Given the description of an element on the screen output the (x, y) to click on. 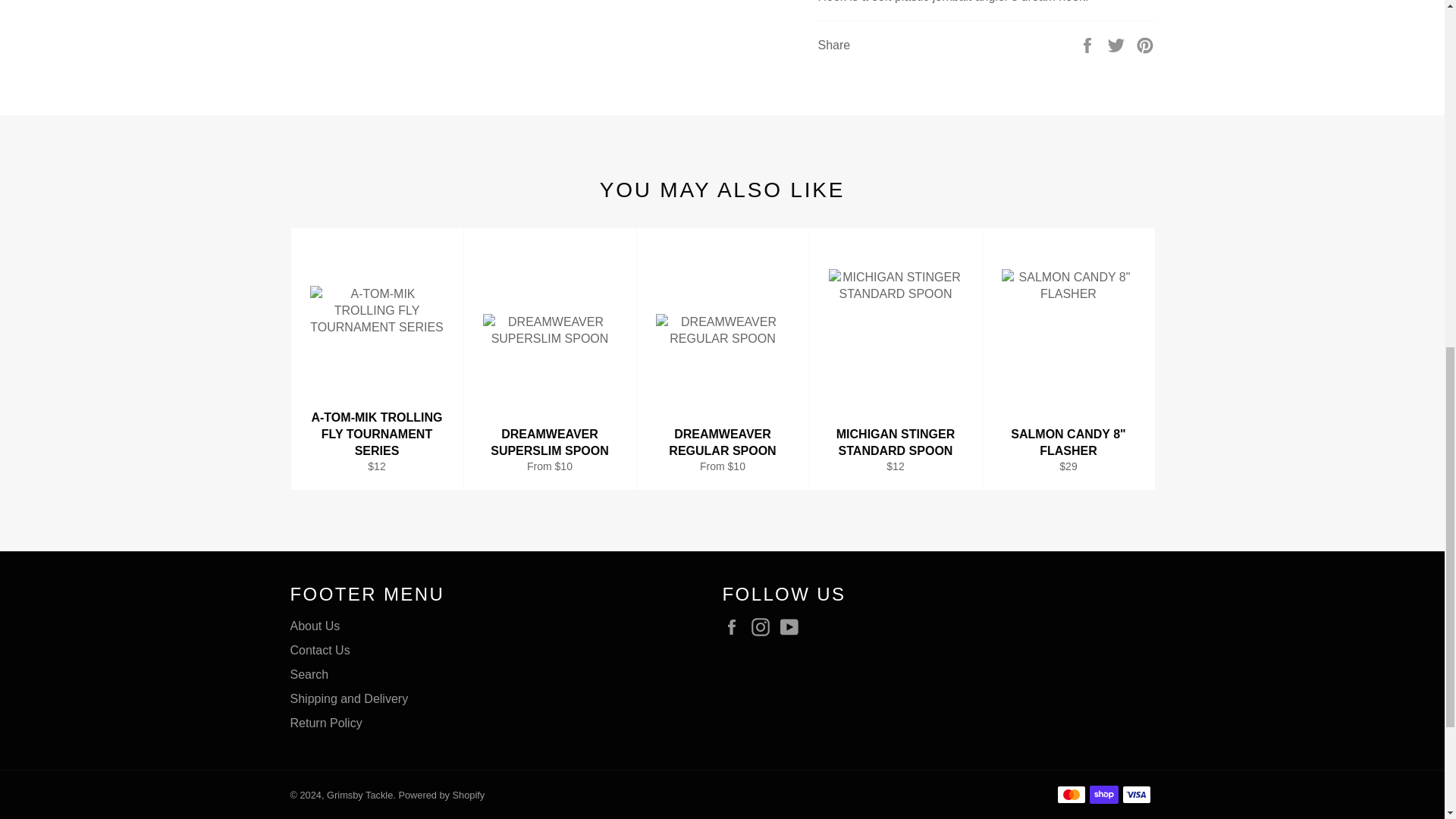
Pin on Pinterest (1144, 43)
Tweet on Twitter (1117, 43)
Grimsby Tackle on Facebook (735, 627)
Grimsby Tackle on YouTube (793, 627)
Share on Facebook (1088, 43)
Grimsby Tackle on Instagram (764, 627)
